Given the description of an element on the screen output the (x, y) to click on. 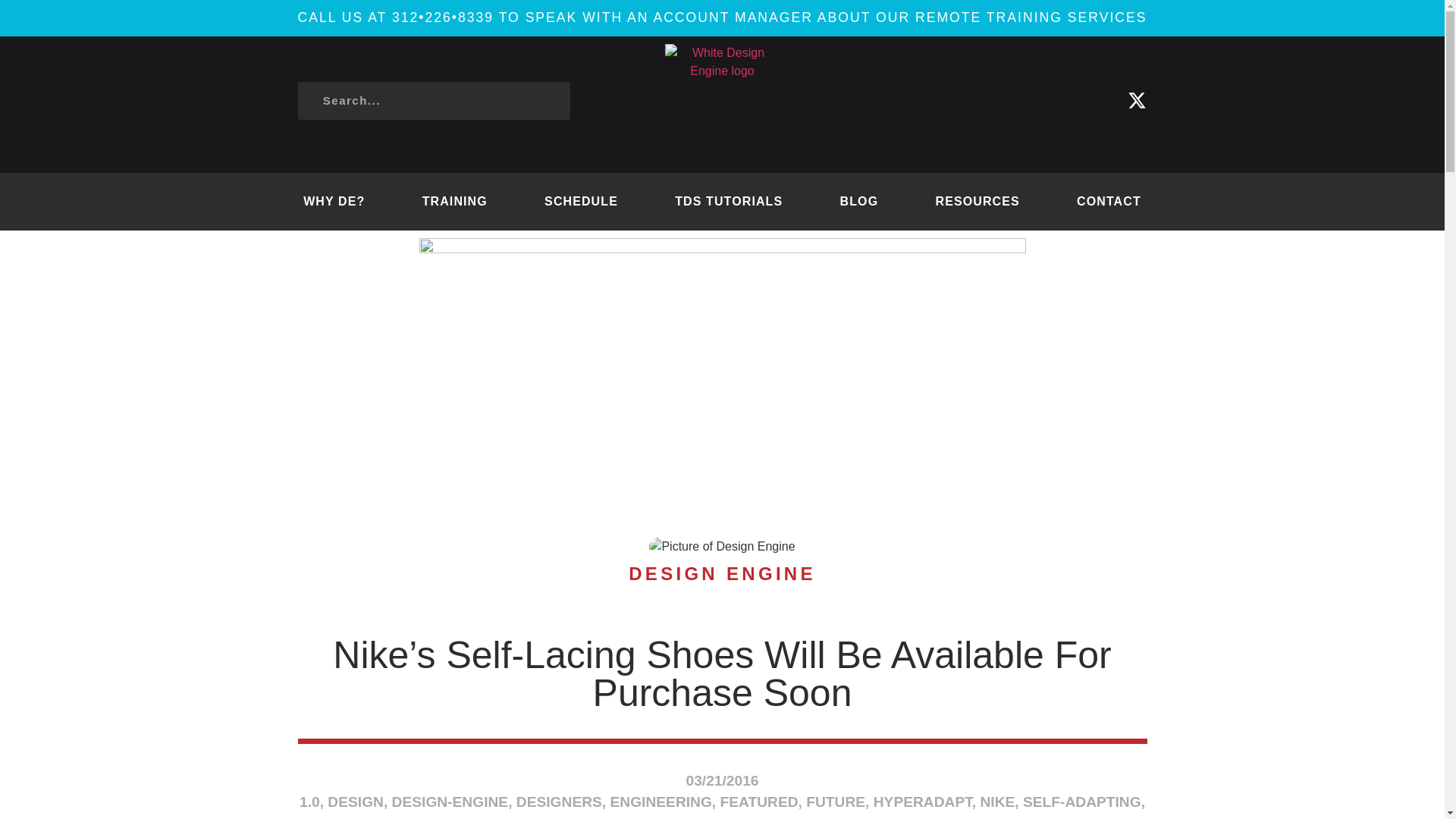
TDS TUTORIALS (728, 201)
TRAINING (454, 201)
WHY DE? (334, 201)
RESOURCES (977, 201)
CONTACT (1108, 201)
SCHEDULE (580, 201)
BLOG (858, 201)
